Given the description of an element on the screen output the (x, y) to click on. 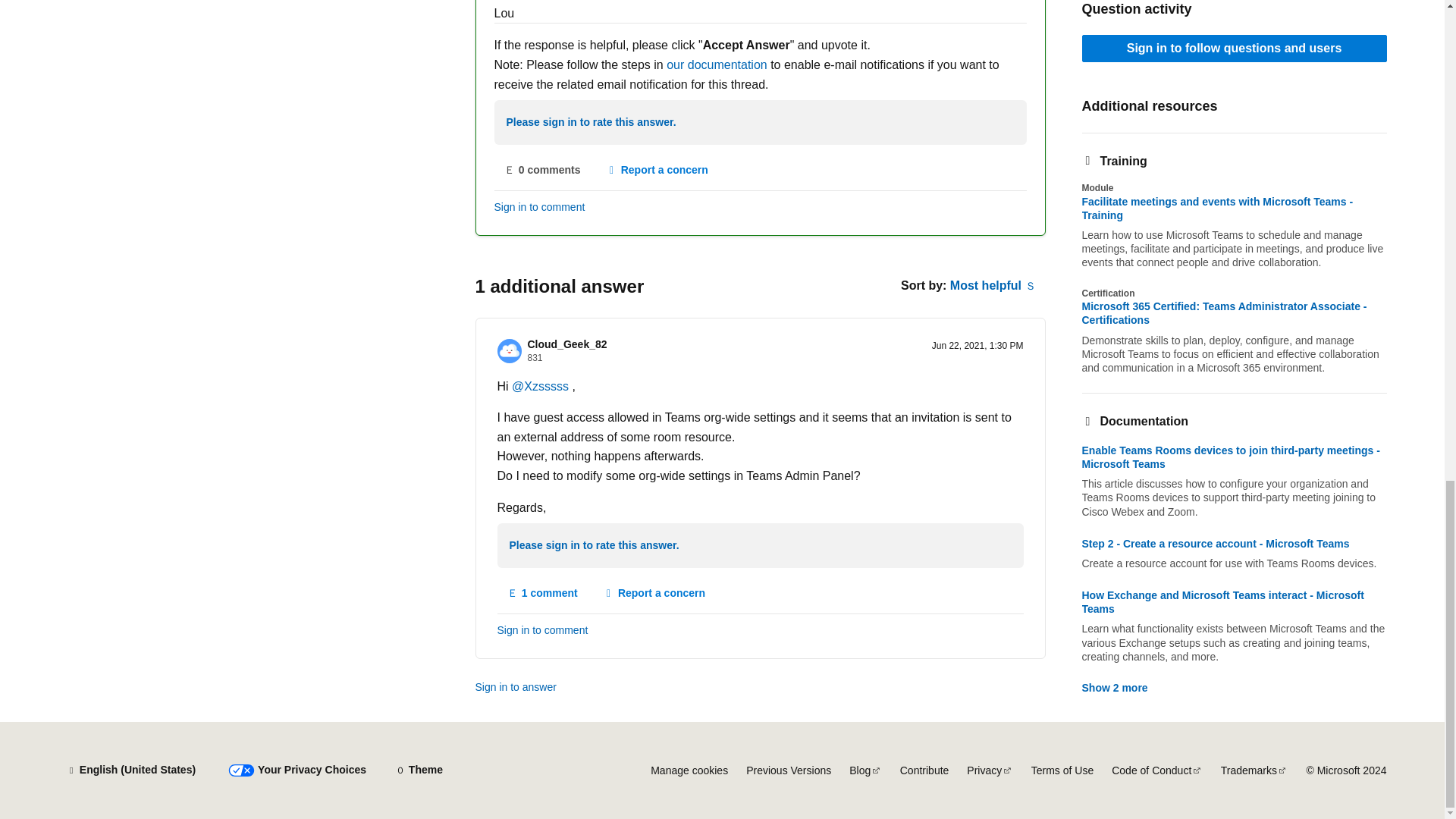
Show comments for this answer (542, 593)
Reputation points (535, 357)
No comments (543, 170)
Report a concern (656, 170)
Report a concern (654, 593)
